Given the description of an element on the screen output the (x, y) to click on. 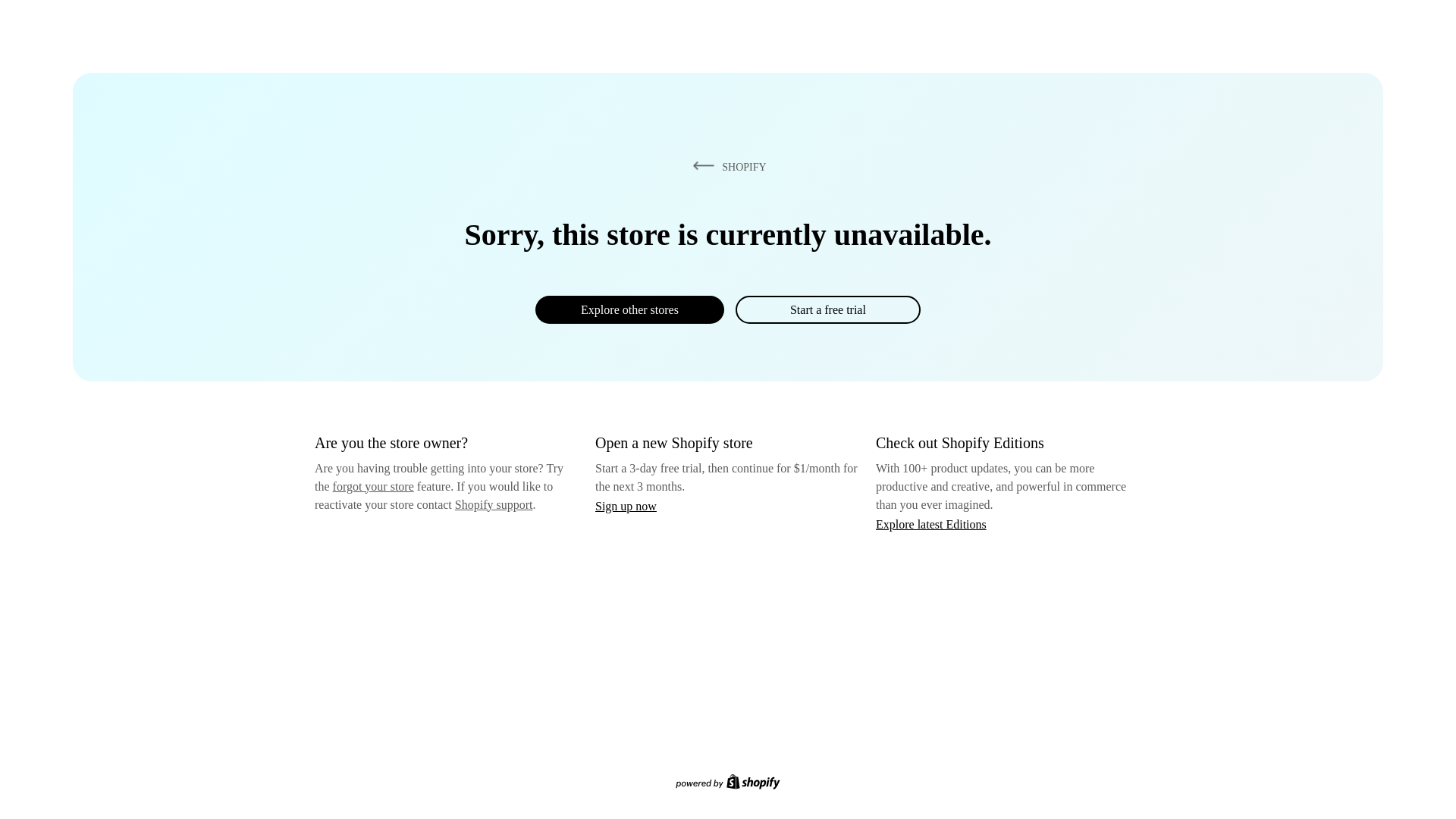
Shopify support (493, 504)
Explore latest Editions (931, 523)
Explore other stores (629, 309)
Sign up now (625, 505)
SHOPIFY (726, 166)
forgot your store (373, 486)
Start a free trial (827, 309)
